Given the description of an element on the screen output the (x, y) to click on. 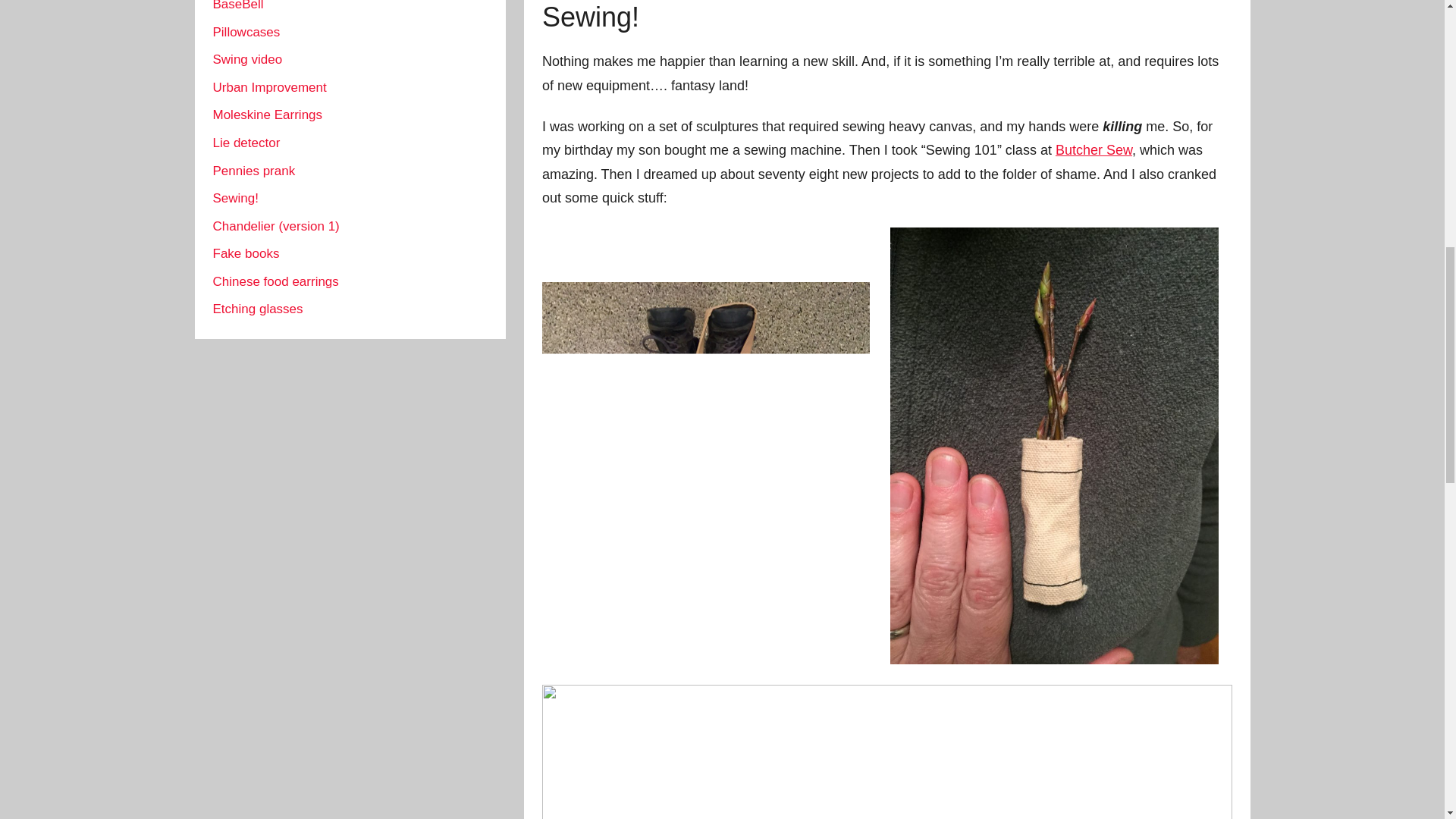
Sewing! (234, 197)
BaseBell (237, 5)
Chinese food earrings (274, 281)
Butcher Sew (1093, 150)
Urban Improvement (269, 87)
Etching glasses (257, 309)
Lie detector (245, 142)
Pillowcases (245, 32)
Moleskine Earrings (266, 114)
Fake books (245, 253)
Swing video (247, 59)
Pennies prank (253, 170)
